Given the description of an element on the screen output the (x, y) to click on. 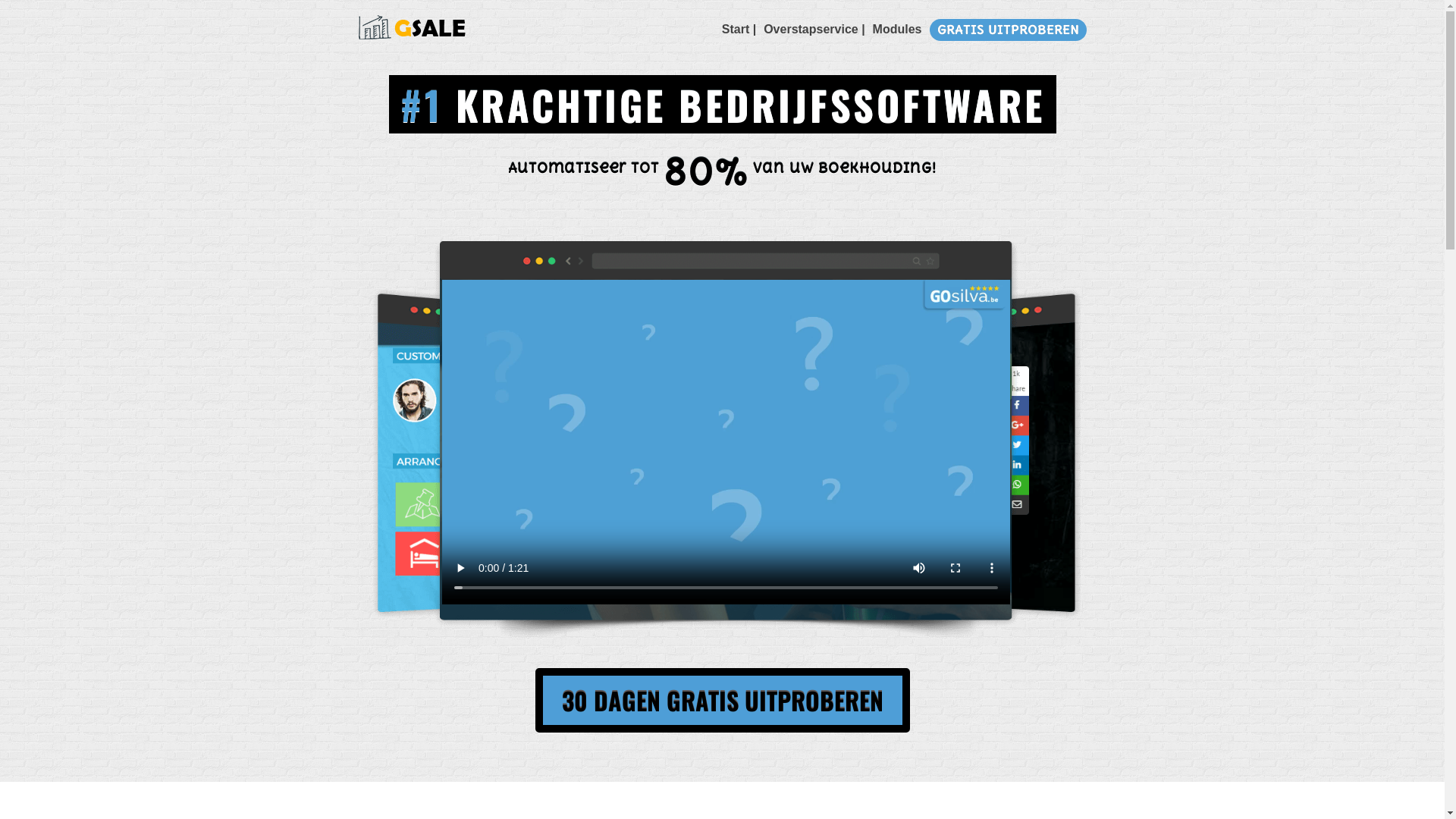
GRATIS UITPROBEREN Element type: text (1007, 29)
Start | Element type: text (738, 28)
30 DAGEN GRATIS UITPROBEREN Element type: text (722, 700)
Modules Element type: text (897, 28)
Overstapservice | Element type: text (813, 28)
